Given the description of an element on the screen output the (x, y) to click on. 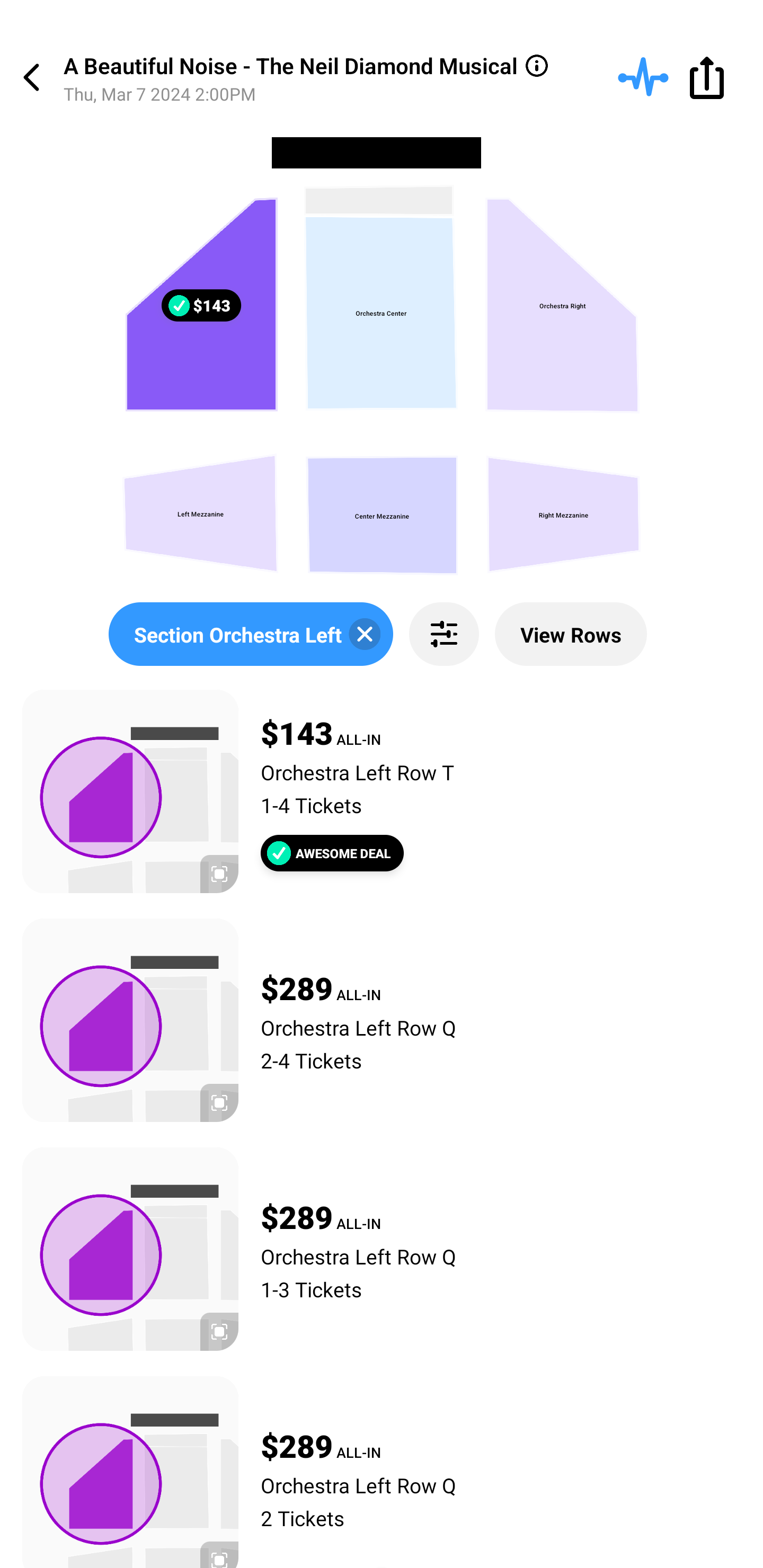
Section Orchestra Left (250, 634)
View Rows (571, 634)
AWESOME DEAL (331, 852)
